Given the description of an element on the screen output the (x, y) to click on. 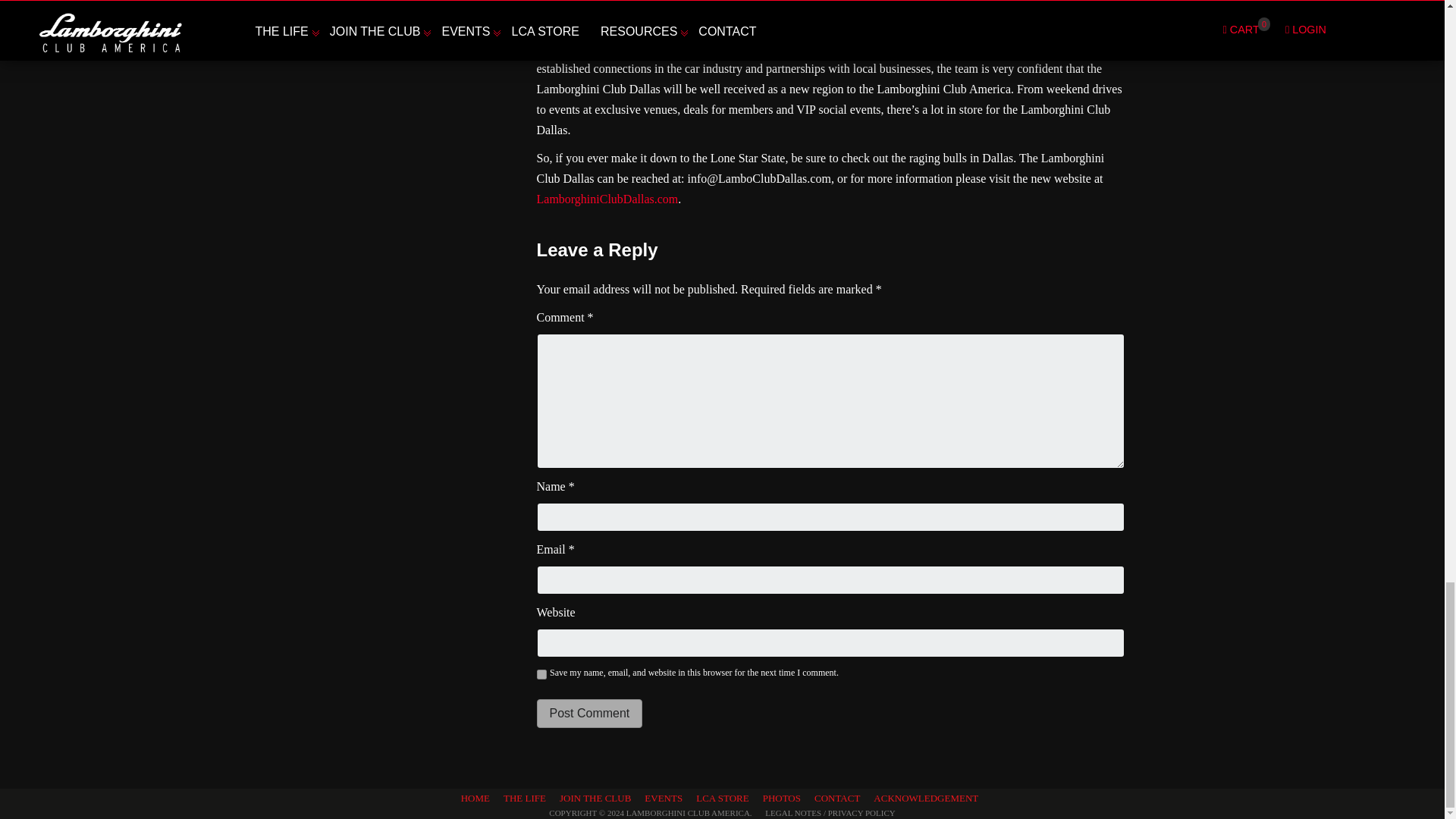
Lamborghini Club America. (689, 812)
Post Comment (590, 713)
yes (542, 674)
